Given the description of an element on the screen output the (x, y) to click on. 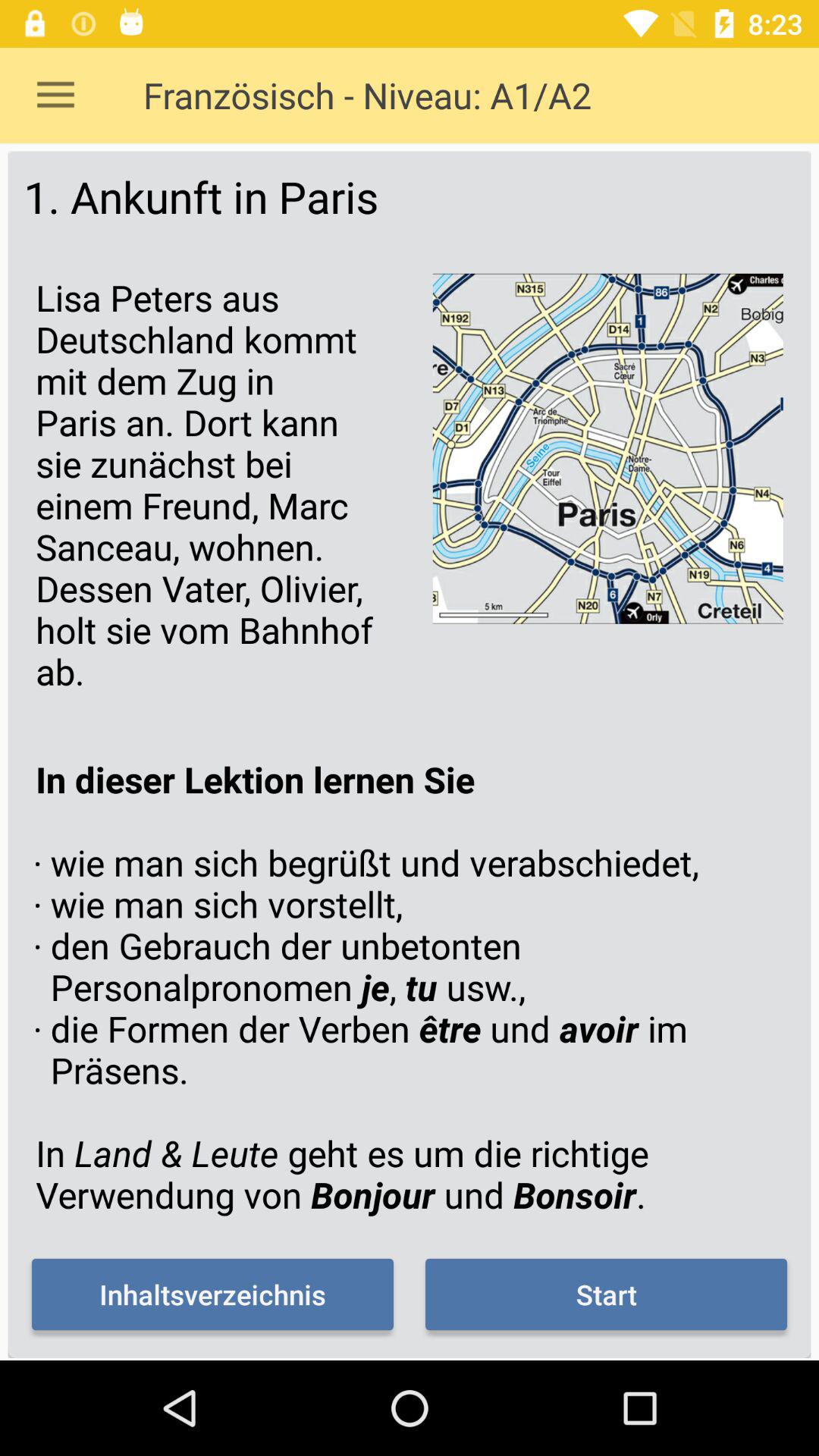
click item at the bottom right corner (606, 1294)
